Given the description of an element on the screen output the (x, y) to click on. 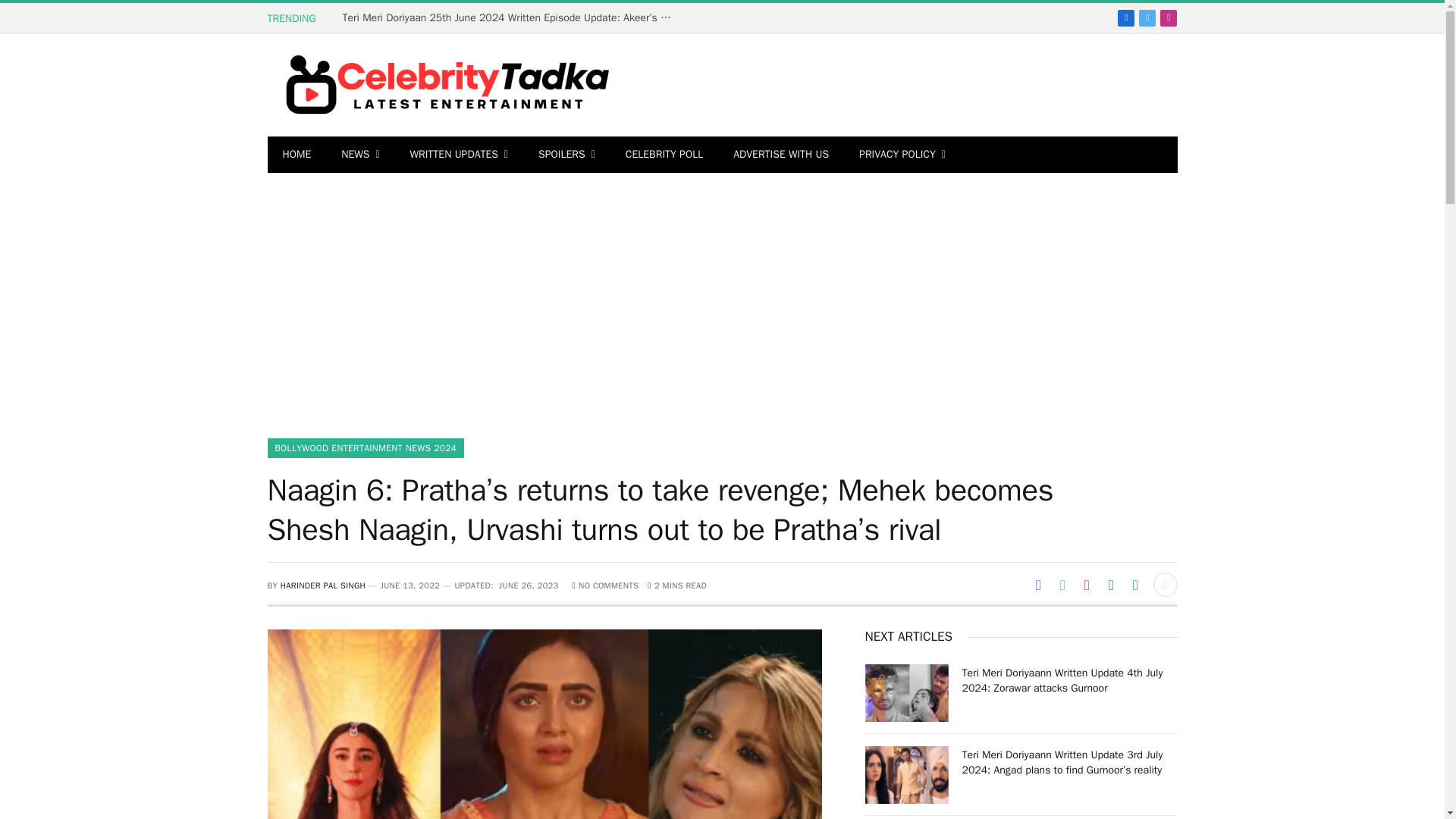
Share on Facebook (1037, 584)
Share on Pinterest (1086, 584)
Show More Social Sharing (1164, 584)
Celebrity Tadka (439, 85)
Share on Telegram (1135, 584)
Posts by Harinder pal singh (323, 584)
Share on LinkedIn (1110, 584)
